Given the description of an element on the screen output the (x, y) to click on. 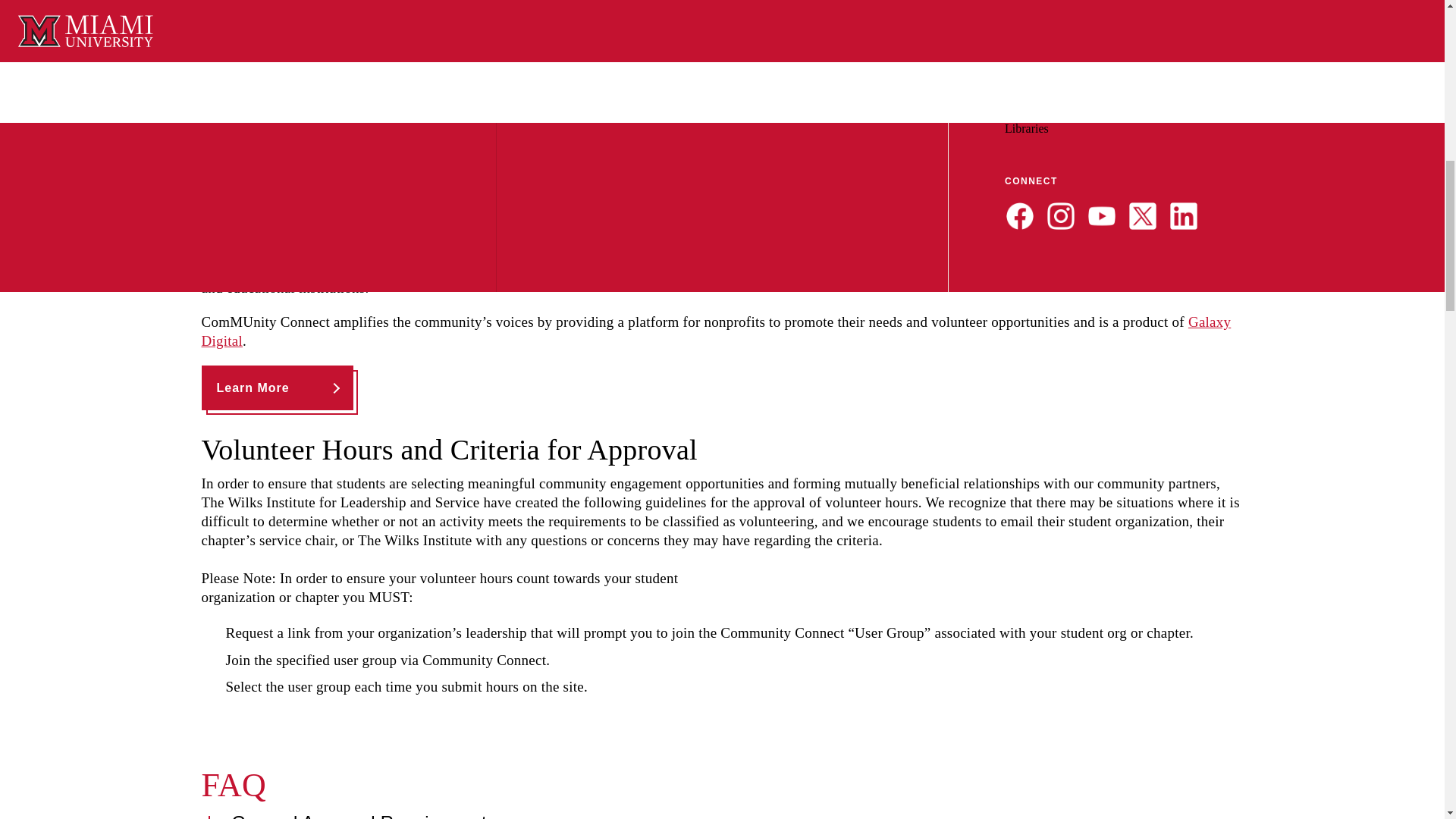
Learn More (277, 387)
Contact us (233, 166)
Galaxy Digital (716, 330)
Asset-Based Community Development (341, 98)
